Given the description of an element on the screen output the (x, y) to click on. 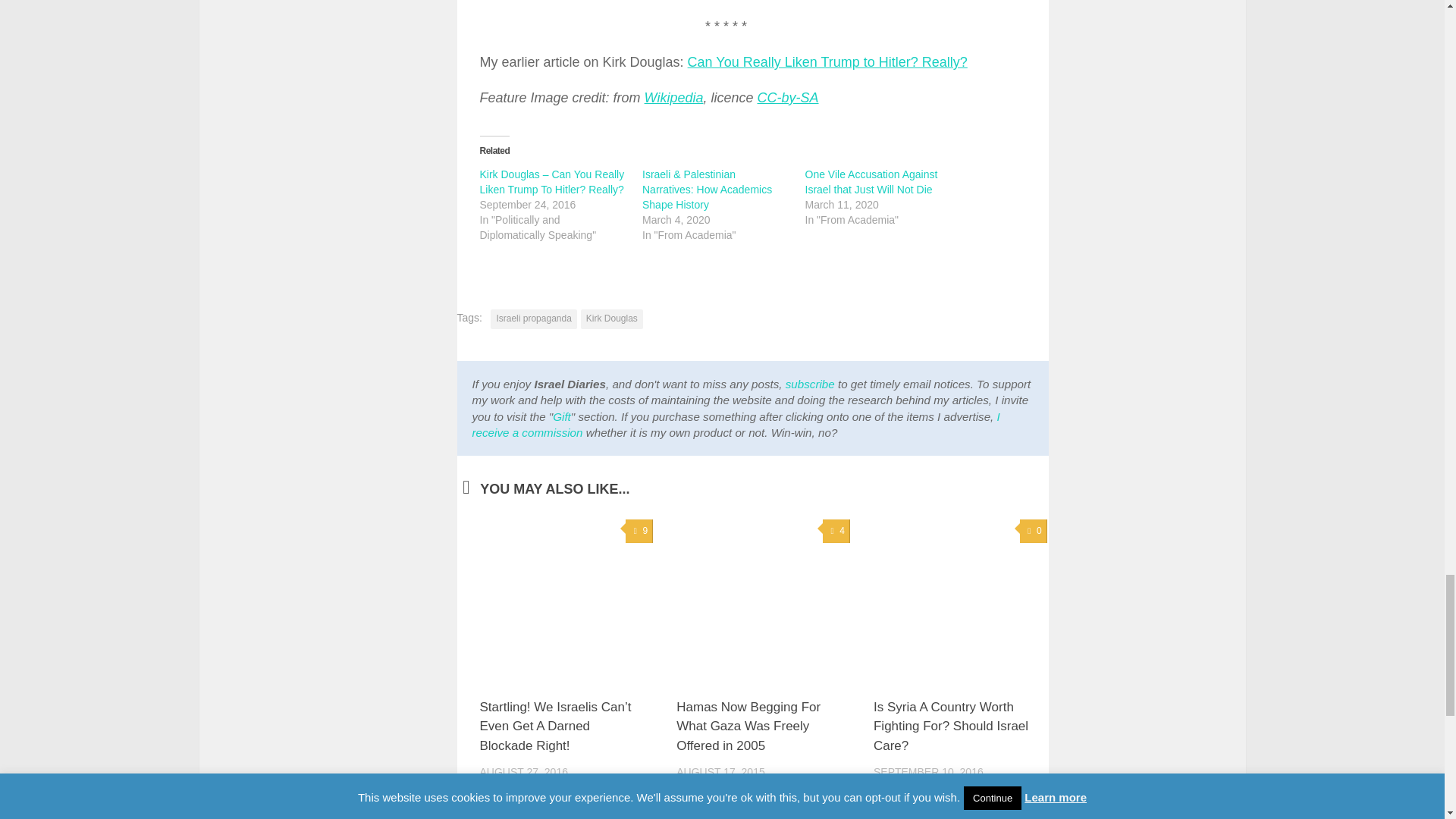
One Vile Accusation Against Israel that Just Will Not Die (871, 181)
more details (734, 424)
